Given the description of an element on the screen output the (x, y) to click on. 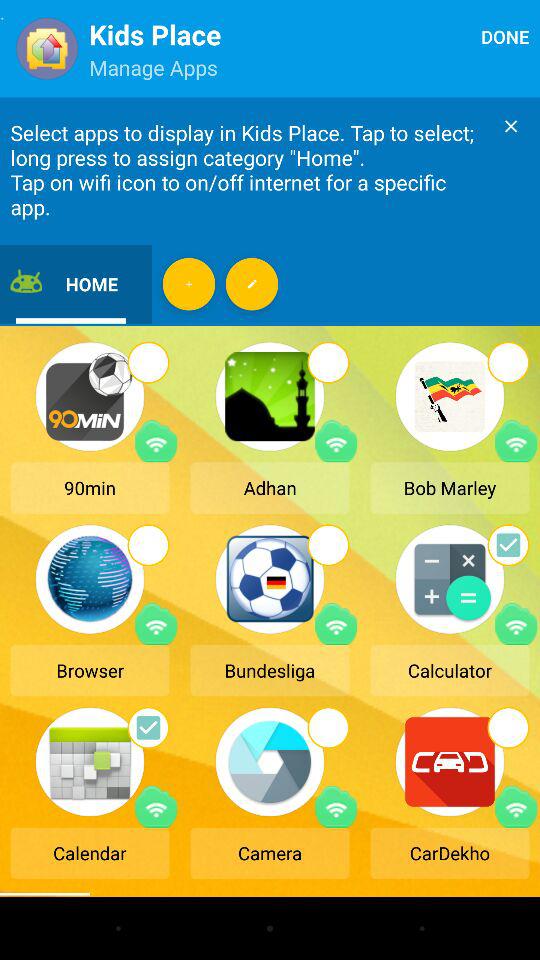
to on/off wifi icon for a specific app (156, 441)
